Given the description of an element on the screen output the (x, y) to click on. 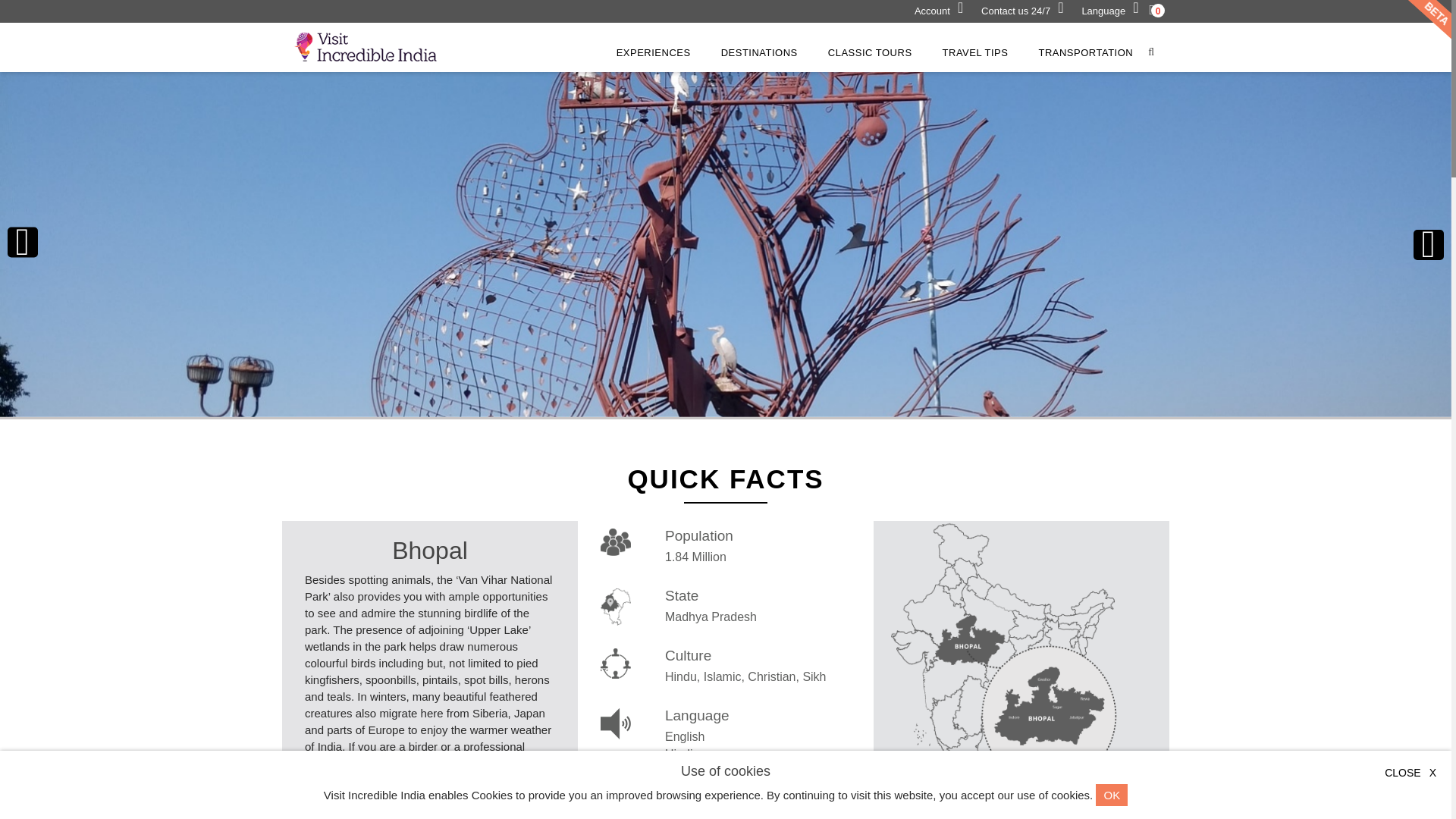
Language (1109, 11)
EXPERIENCES (653, 52)
TRAVEL TIPS (975, 52)
CLASSIC TOURS (870, 52)
Account (939, 11)
Previous (22, 244)
DESTINATIONS (759, 52)
TRANSPORTATION (1085, 52)
